Given the description of an element on the screen output the (x, y) to click on. 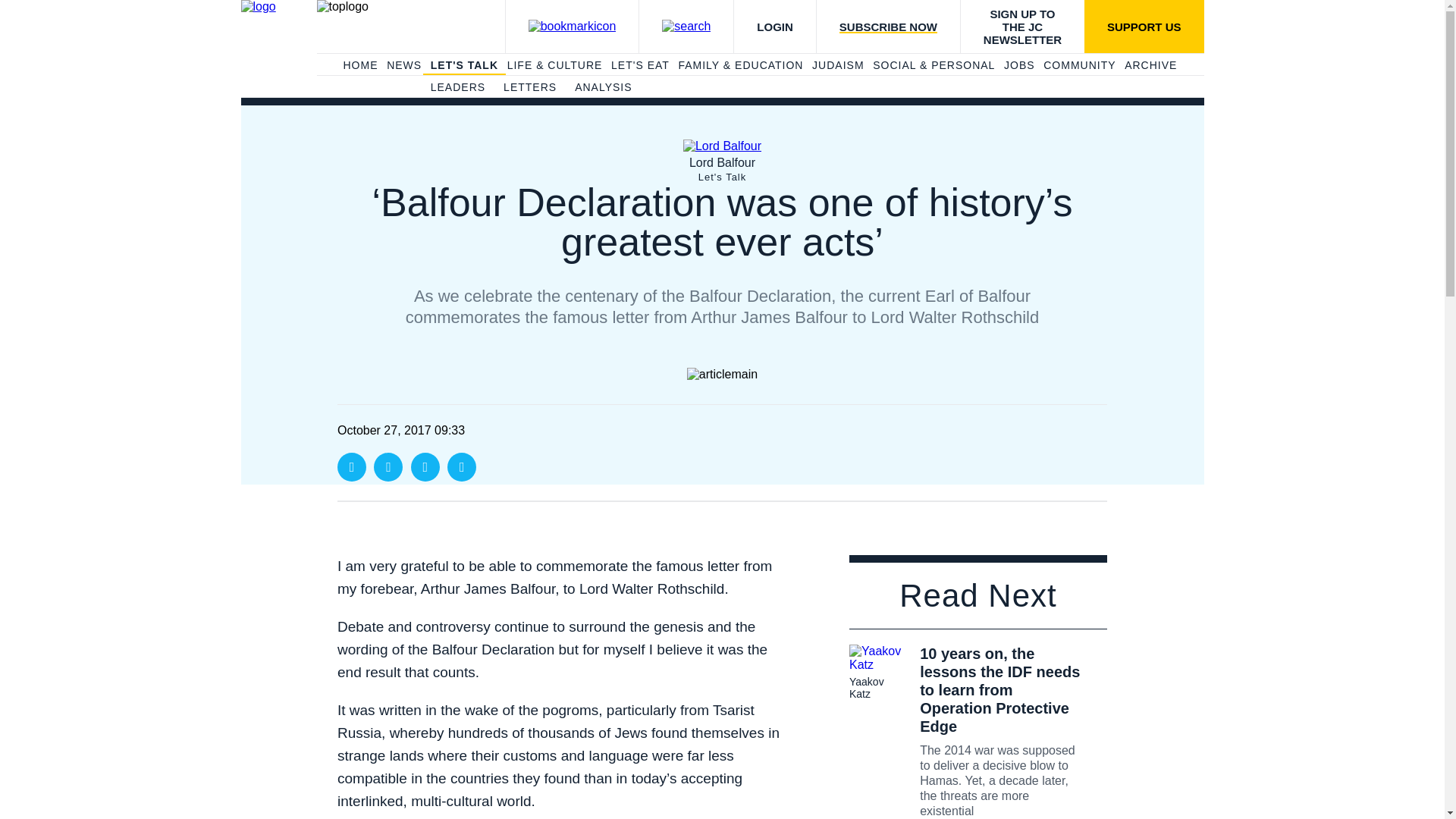
LOGIN (774, 26)
JUDAISM (837, 65)
ANALYSIS (603, 87)
LET'S EAT (640, 65)
LET'S TALK (463, 65)
SIGN UP TO THE JC NEWSLETTER (1021, 26)
LEADERS (457, 87)
SUPPORT US (1144, 26)
HOME (359, 65)
NEWS (404, 65)
